Given the description of an element on the screen output the (x, y) to click on. 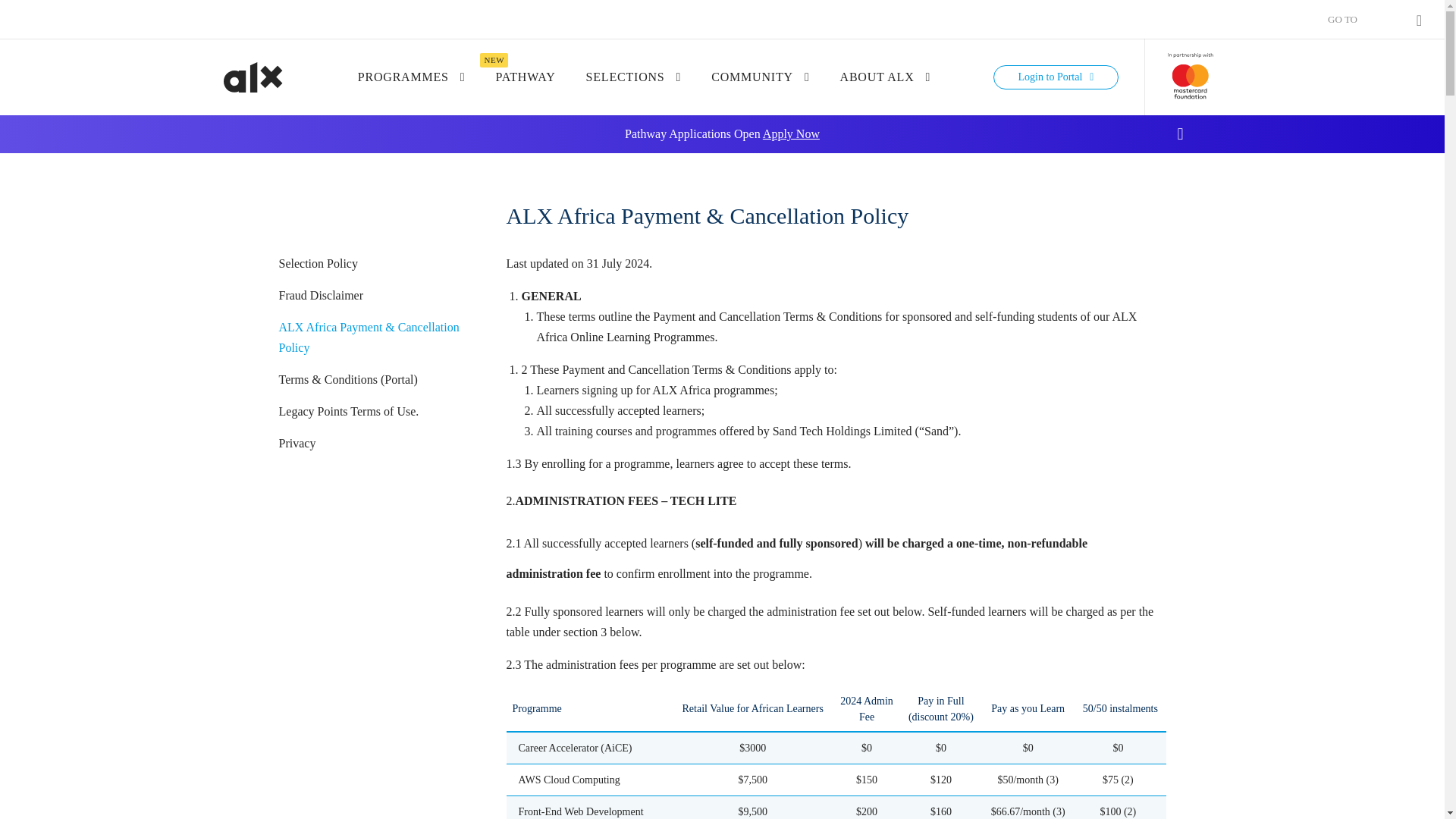
COMMUNITY (760, 77)
PROGRAMMES (411, 77)
SELECTIONS (633, 77)
ABOUT ALX (885, 77)
